Given the description of an element on the screen output the (x, y) to click on. 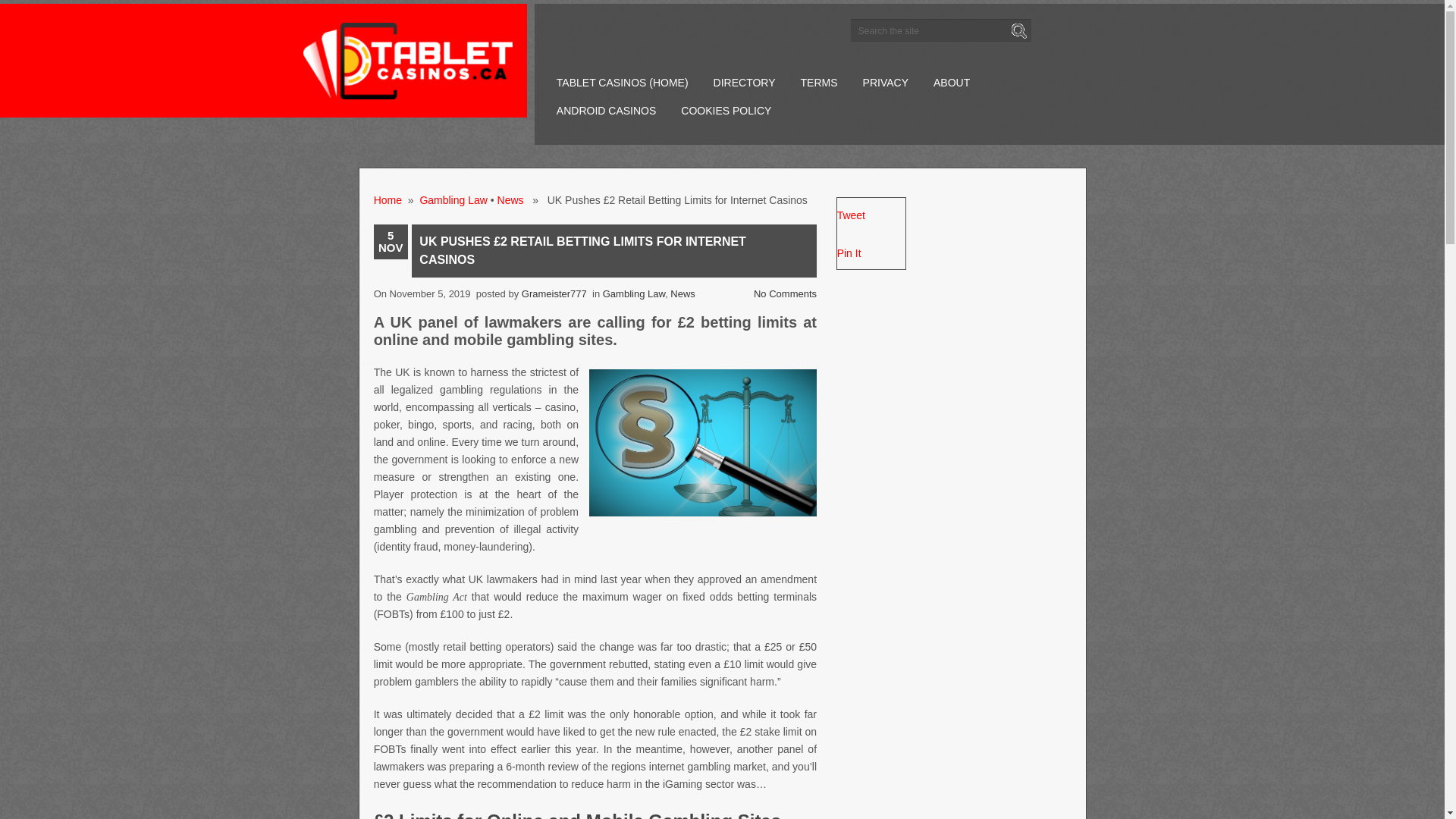
Pin It (849, 253)
PRIVACY (885, 82)
Gambling Law (633, 293)
Home (387, 200)
Posts by Grameister777 (553, 293)
ABOUT (951, 82)
ANDROID CASINOS (606, 111)
Gambling Law (453, 200)
News (682, 293)
Search the site (940, 30)
Tweet (850, 215)
DIRECTORY (744, 82)
Grameister777 (553, 293)
No Comments (785, 293)
News (510, 200)
